Given the description of an element on the screen output the (x, y) to click on. 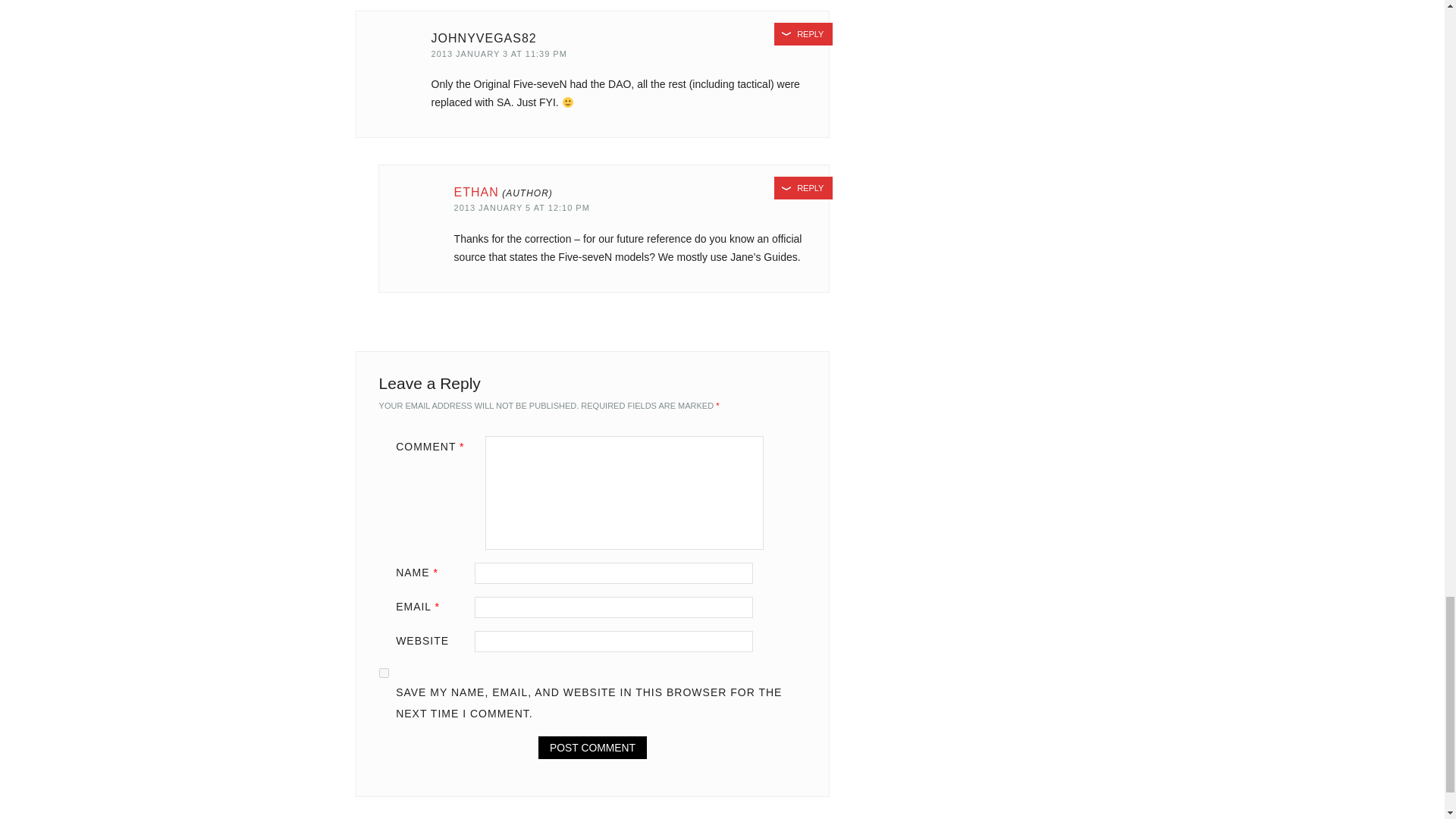
2013 JANUARY 5 AT 12:10 PM (521, 207)
ETHAN (476, 192)
2013 JANUARY 3 AT 11:39 PM (498, 53)
REPLY (803, 187)
Post Comment (592, 747)
REPLY (803, 33)
yes (383, 673)
